Given the description of an element on the screen output the (x, y) to click on. 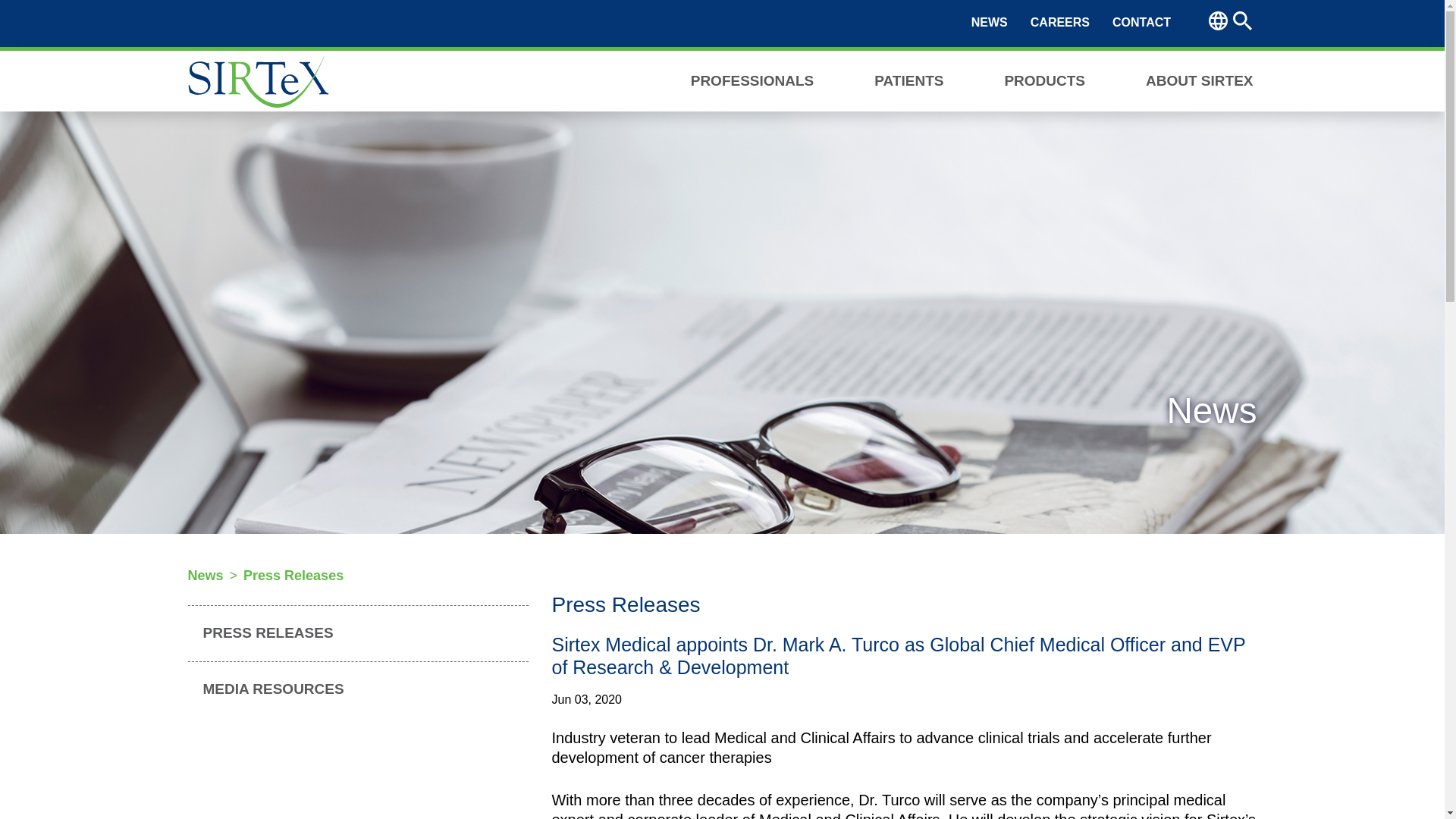
SEARCH (1242, 20)
CONTACT (1141, 22)
CAREERS (1059, 22)
NEWS (989, 22)
PROFESSIONALS (752, 78)
PATIENTS (908, 78)
SIRTEX (258, 80)
REGION (1217, 20)
